Given the description of an element on the screen output the (x, y) to click on. 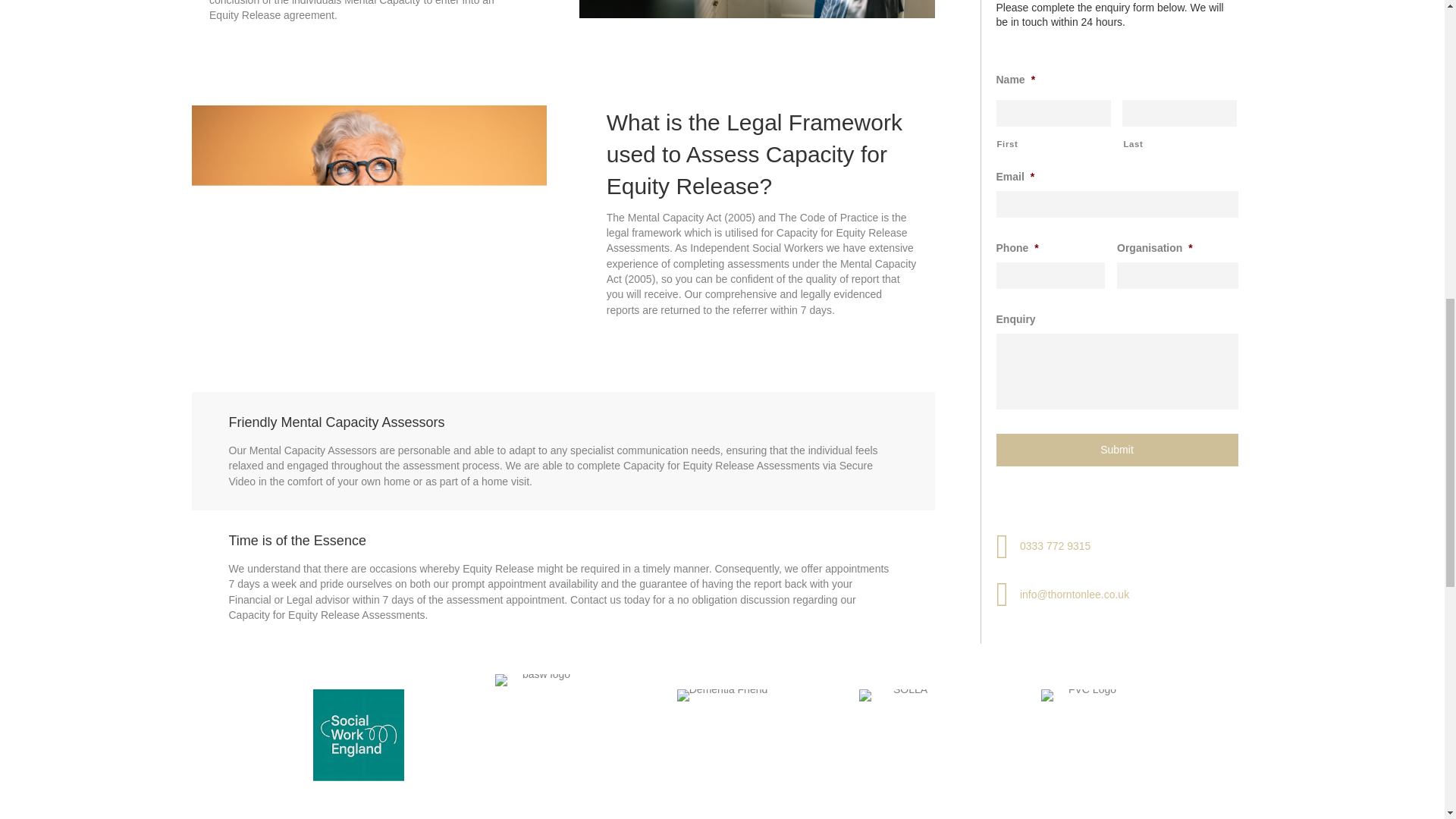
basw logo (540, 708)
SOLLA Accredited png (904, 711)
0333 772 9315 (1055, 65)
Dementia Friend GIF (722, 715)
Social Work England Logo (358, 735)
